Given the description of an element on the screen output the (x, y) to click on. 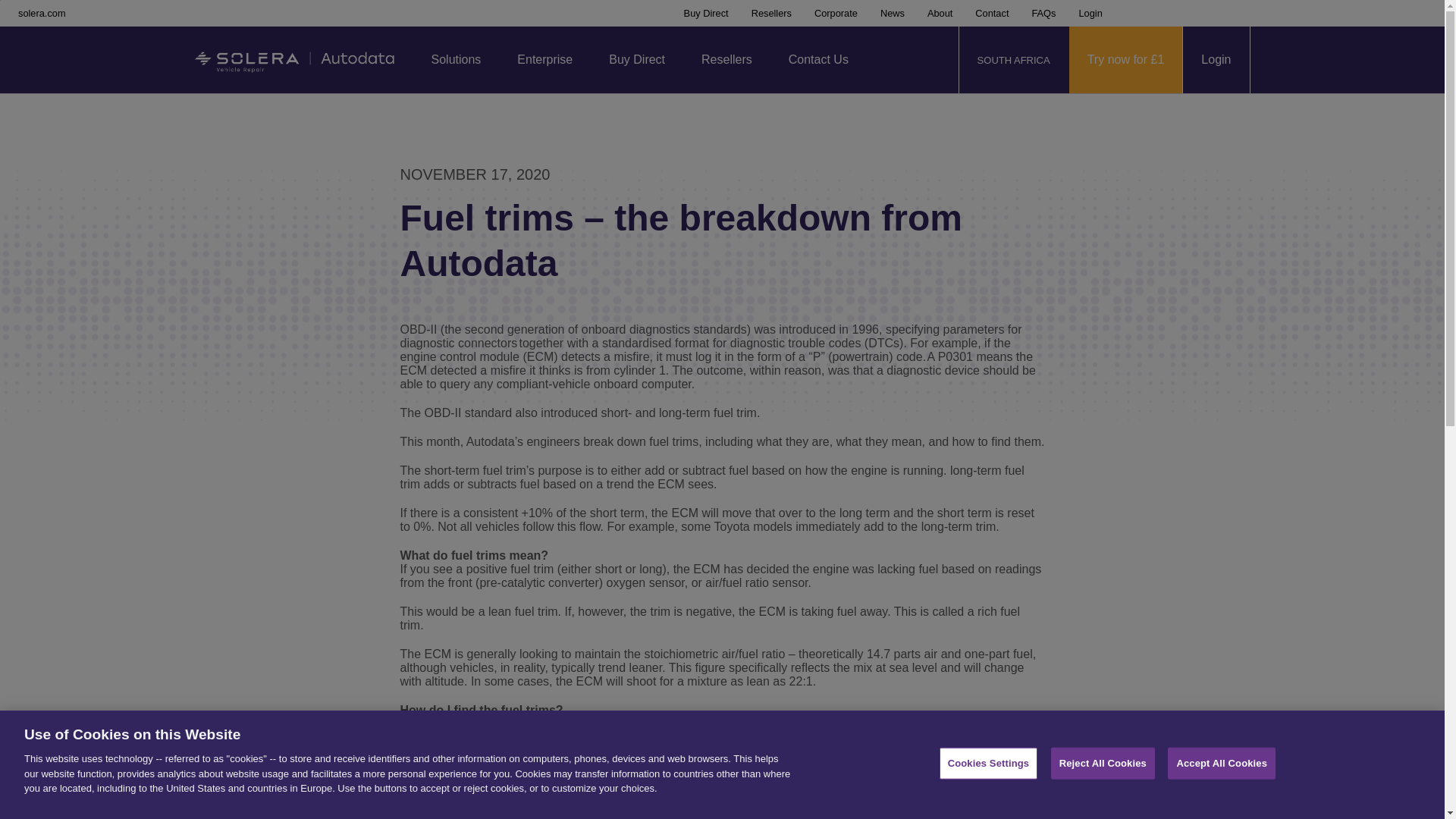
Contact Us (818, 59)
solera.com (41, 12)
Login (1215, 59)
Buy Direct (636, 59)
Resellers (771, 12)
Solutions (455, 59)
Login (1090, 12)
Contact (992, 12)
SOUTH AFRICA (1013, 59)
FAQs (1042, 12)
About (939, 12)
Enterprise (545, 59)
Buy Direct (706, 12)
Resellers (726, 59)
Corporate (835, 12)
